Given the description of an element on the screen output the (x, y) to click on. 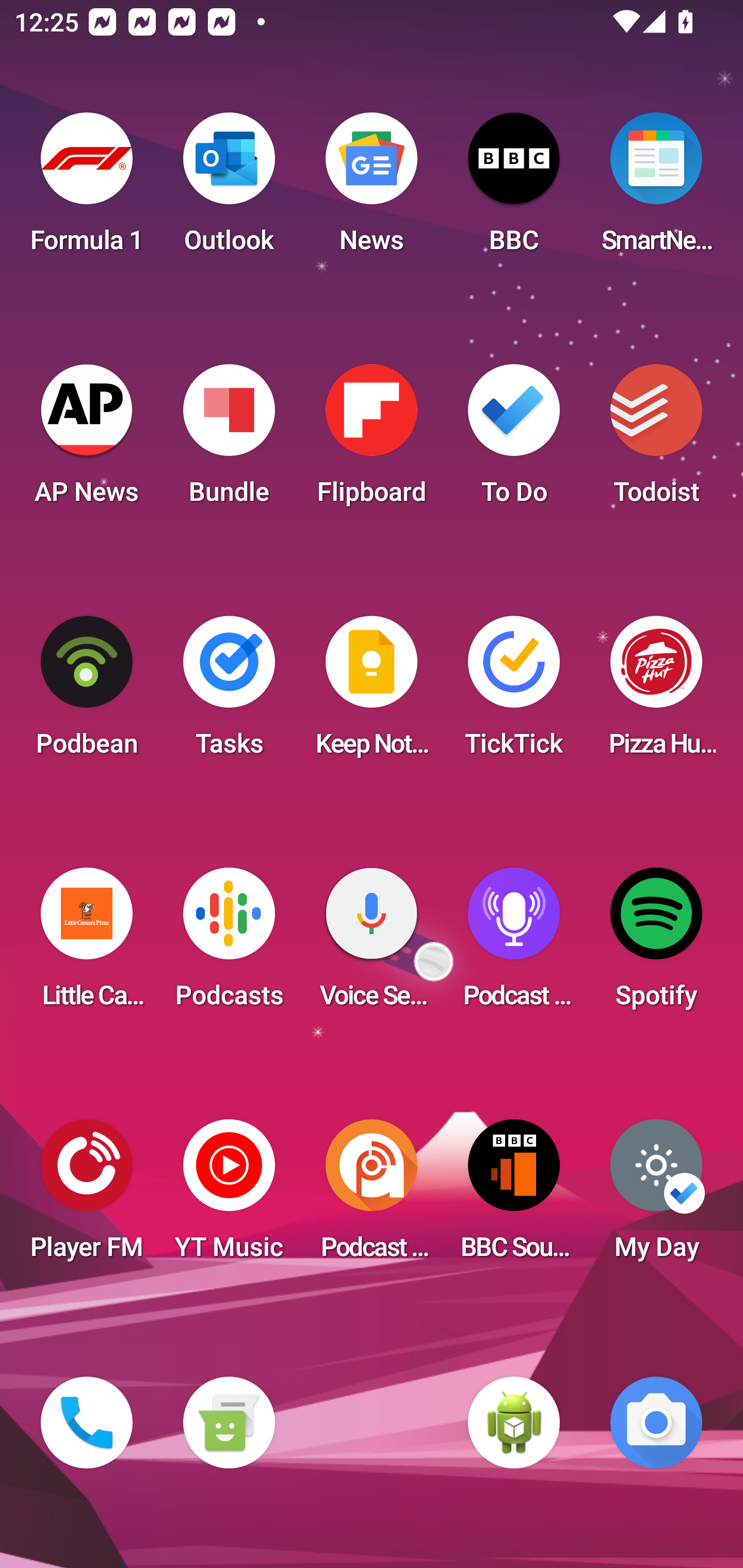
Formula 1 (86, 188)
Outlook (228, 188)
News (371, 188)
BBC (513, 188)
SmartNews (656, 188)
AP News (86, 440)
Bundle (228, 440)
Flipboard (371, 440)
To Do (513, 440)
Todoist (656, 440)
Podbean (86, 692)
Tasks (228, 692)
Keep Notes (371, 692)
TickTick (513, 692)
Pizza Hut HK & Macau (656, 692)
Little Caesars Pizza (86, 943)
Podcasts (228, 943)
Voice Search (371, 943)
Podcast Player (513, 943)
Spotify (656, 943)
Player FM (86, 1195)
YT Music (228, 1195)
Podcast Addict (371, 1195)
BBC Sounds (513, 1195)
My Day (656, 1195)
Phone (86, 1422)
Messaging (228, 1422)
WebView Browser Tester (513, 1422)
Camera (656, 1422)
